Given the description of an element on the screen output the (x, y) to click on. 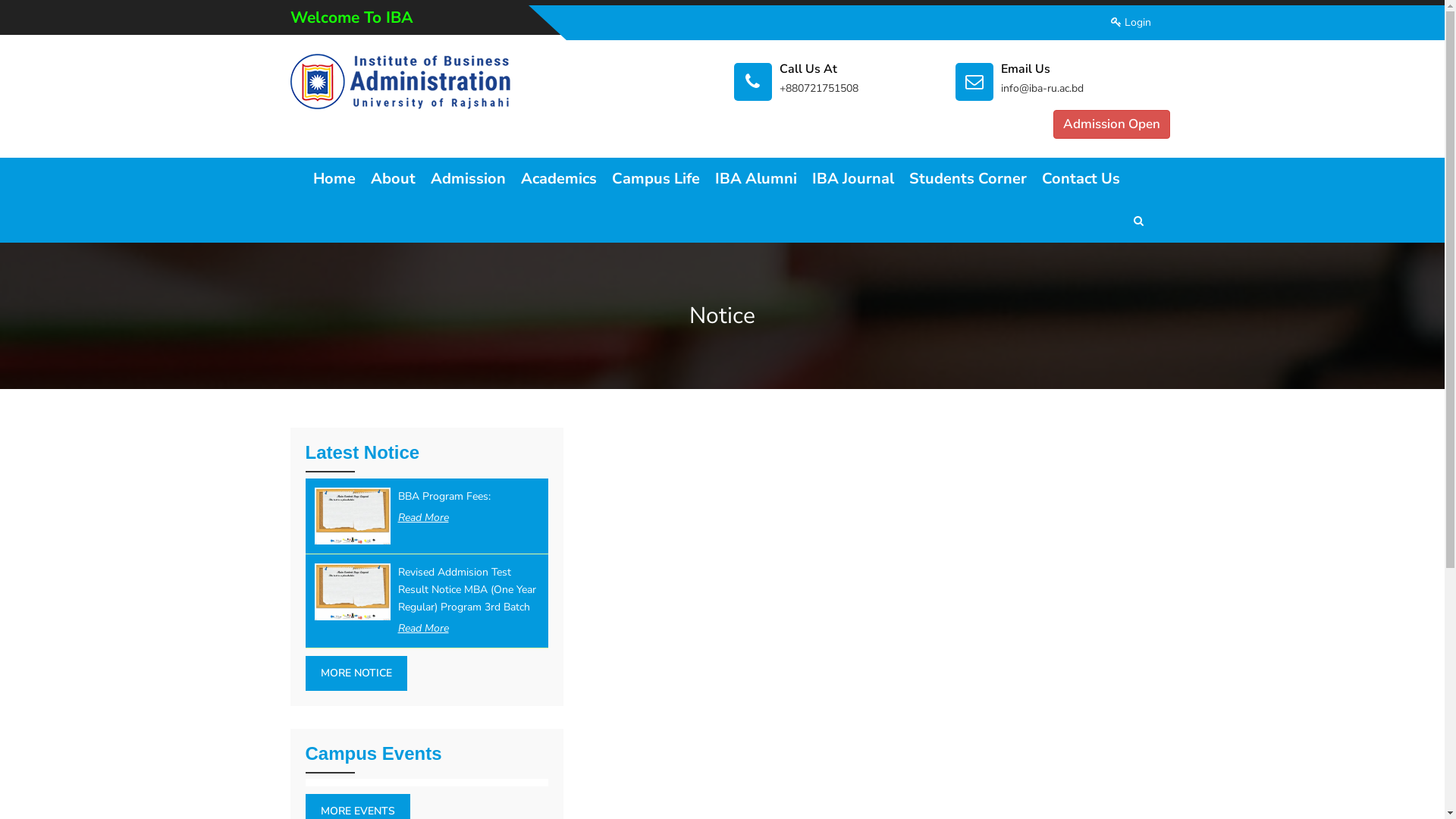
Contact Us Element type: text (1080, 178)
About Element type: text (392, 178)
BBA Program Fees: Element type: text (443, 496)
Campus Life Element type: text (654, 178)
Home Element type: text (333, 178)
IBA Alumni Element type: text (754, 178)
Login Element type: text (1130, 22)
Admission Open Element type: text (1110, 123)
Students Corner Element type: text (966, 178)
IBA Journal Element type: text (851, 178)
MORE NOTICE Element type: text (355, 672)
Academics Element type: text (557, 178)
Read More Element type: text (422, 517)
Admission Element type: text (468, 178)
Read More Element type: text (422, 628)
